Given the description of an element on the screen output the (x, y) to click on. 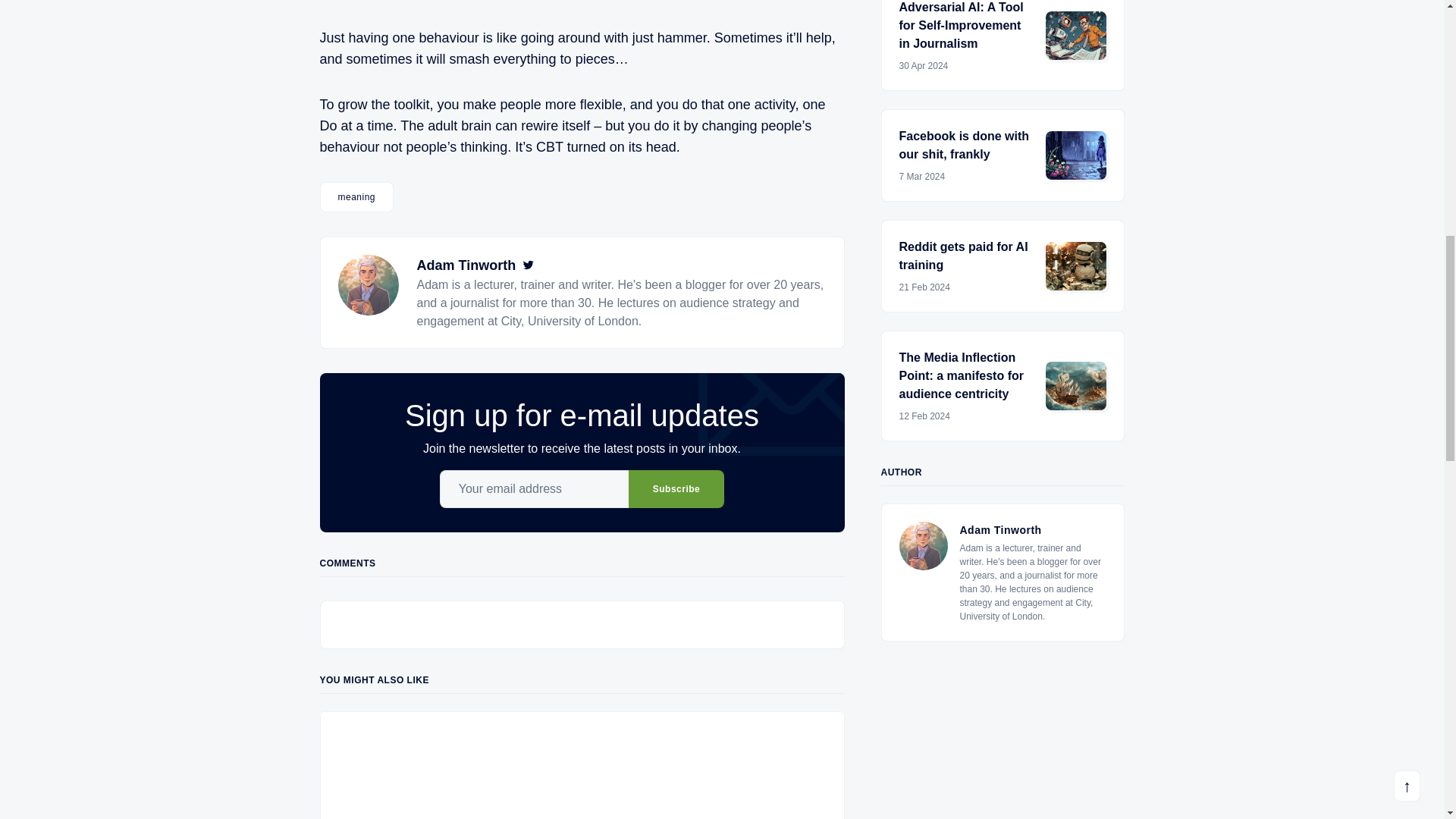
Subscribe (676, 488)
Adam Tinworth (466, 264)
Twitter (528, 264)
meaning (357, 196)
